Given the description of an element on the screen output the (x, y) to click on. 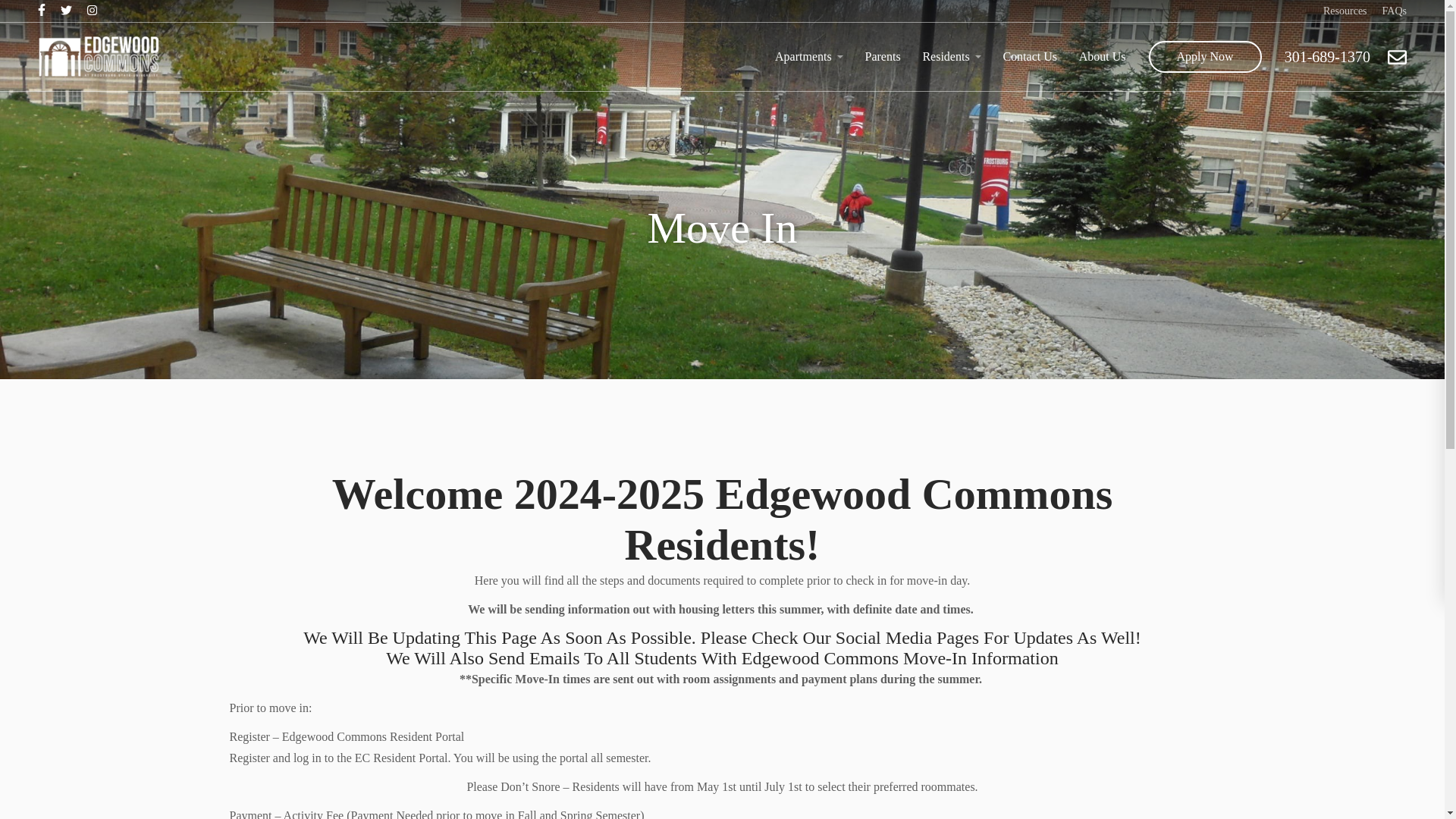
Parents (882, 56)
Apartments (808, 56)
Residents (950, 56)
Contact Us (1030, 56)
About Us (1101, 56)
Apply Now (1205, 56)
FAQs (1393, 10)
Resources (1345, 10)
301-689-1370 (1327, 57)
